Given the description of an element on the screen output the (x, y) to click on. 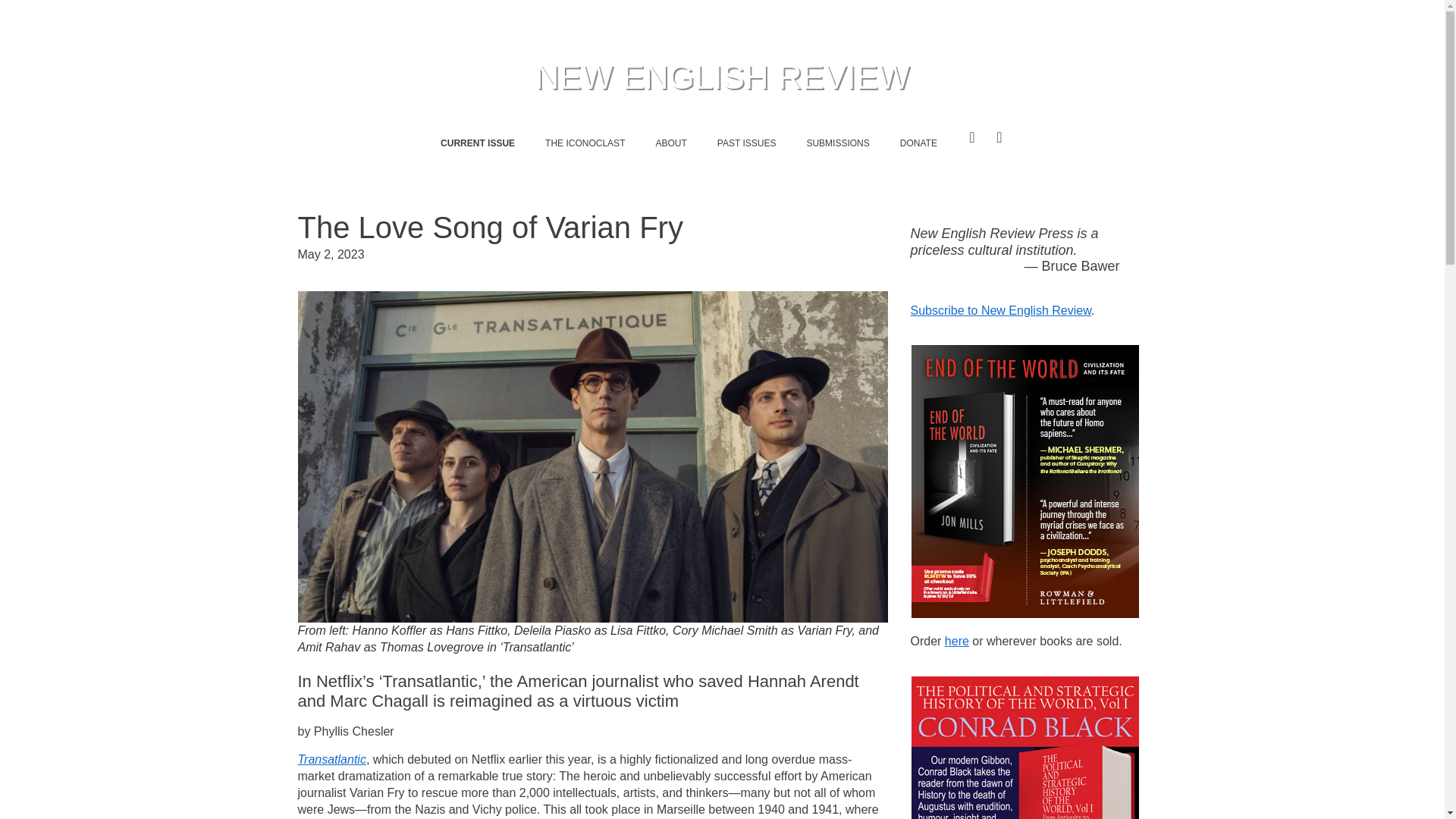
CURRENT ISSUE (477, 143)
NEW ENGLISH REVIEW (722, 76)
ABOUT (670, 143)
Transatlantic (331, 758)
PAST ISSUES (746, 143)
THE ICONOCLAST (584, 143)
DONATE (918, 143)
SUBMISSIONS (836, 143)
